Given the description of an element on the screen output the (x, y) to click on. 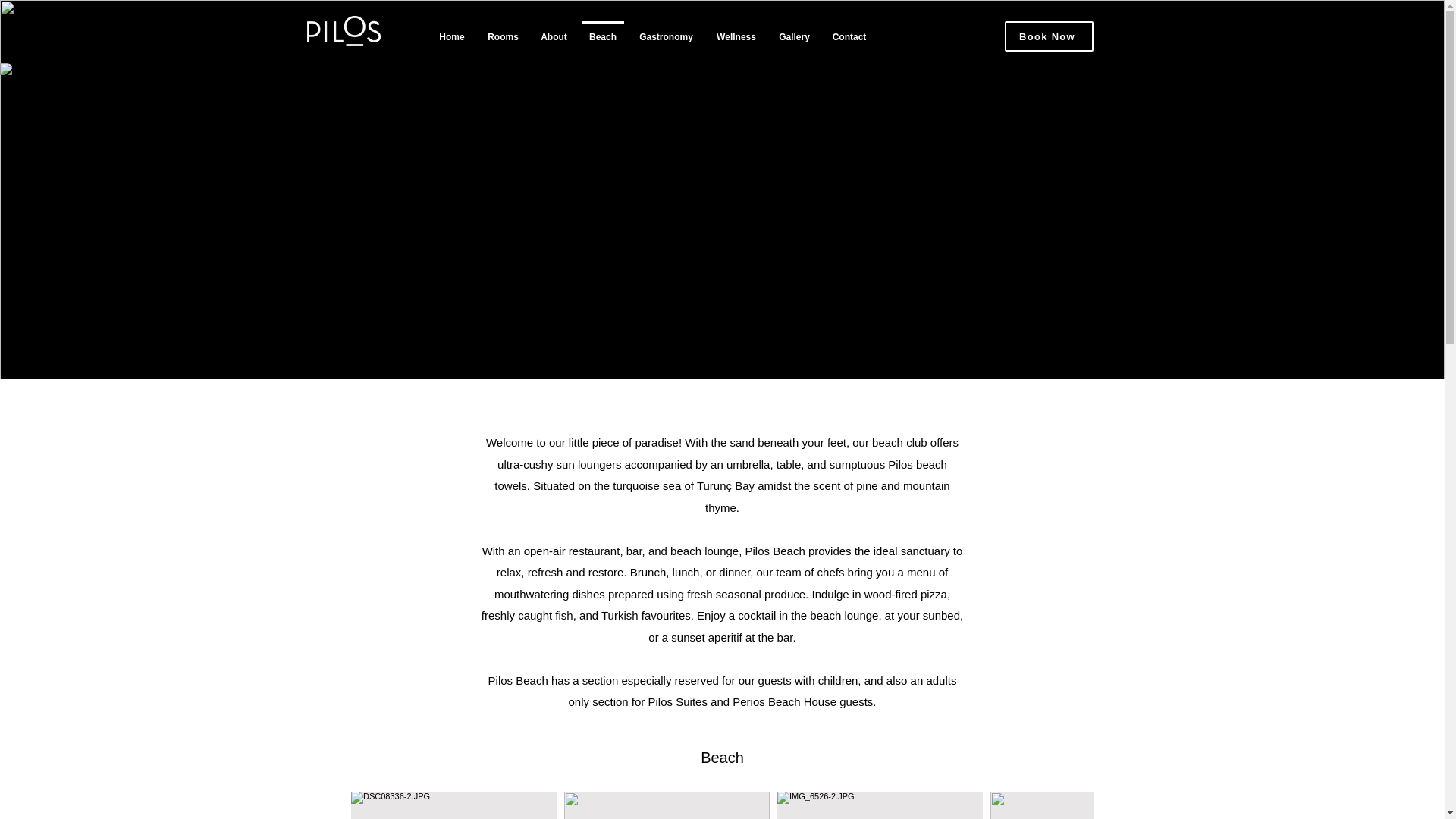
Home (452, 30)
Rooms (502, 30)
Wellness (736, 30)
Book Now (1048, 36)
Beach (602, 30)
Contact (849, 30)
Gastronomy (665, 30)
About (553, 30)
Gallery (794, 30)
